Given the description of an element on the screen output the (x, y) to click on. 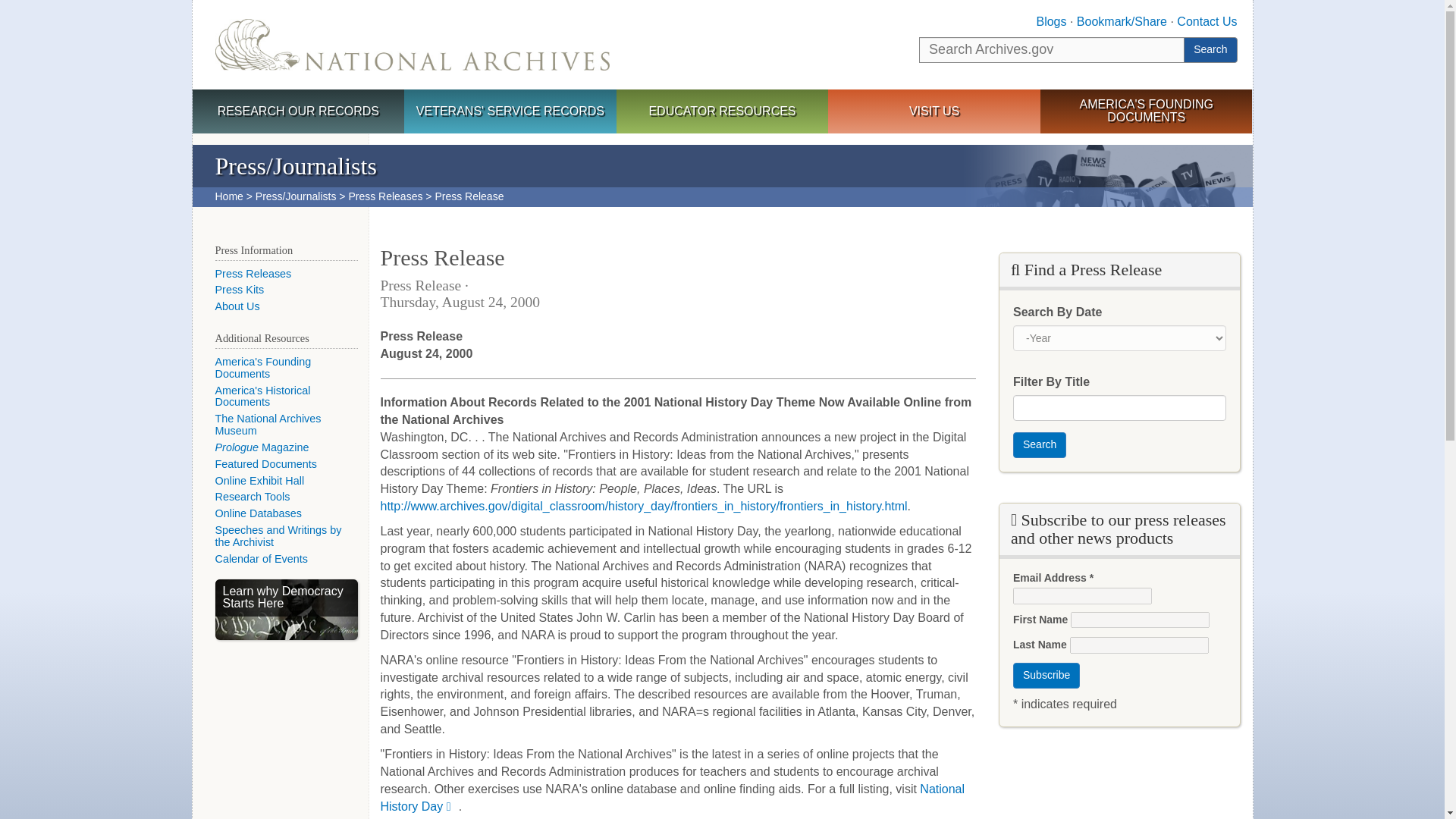
Press Releases (384, 196)
America's Historical Documents (263, 396)
Research Tools (252, 496)
AMERICA'S FOUNDING DOCUMENTS (1146, 111)
Prologue Magazine (261, 447)
The National Archives Museum (268, 424)
Search (1039, 444)
Online Exhibit Hall (259, 480)
VETERANS' SERVICE RECORDS (509, 111)
Search Archives.gov (1051, 49)
America's Founding Documents (263, 367)
Speeches and Writings by the Archivist (278, 535)
